Given the description of an element on the screen output the (x, y) to click on. 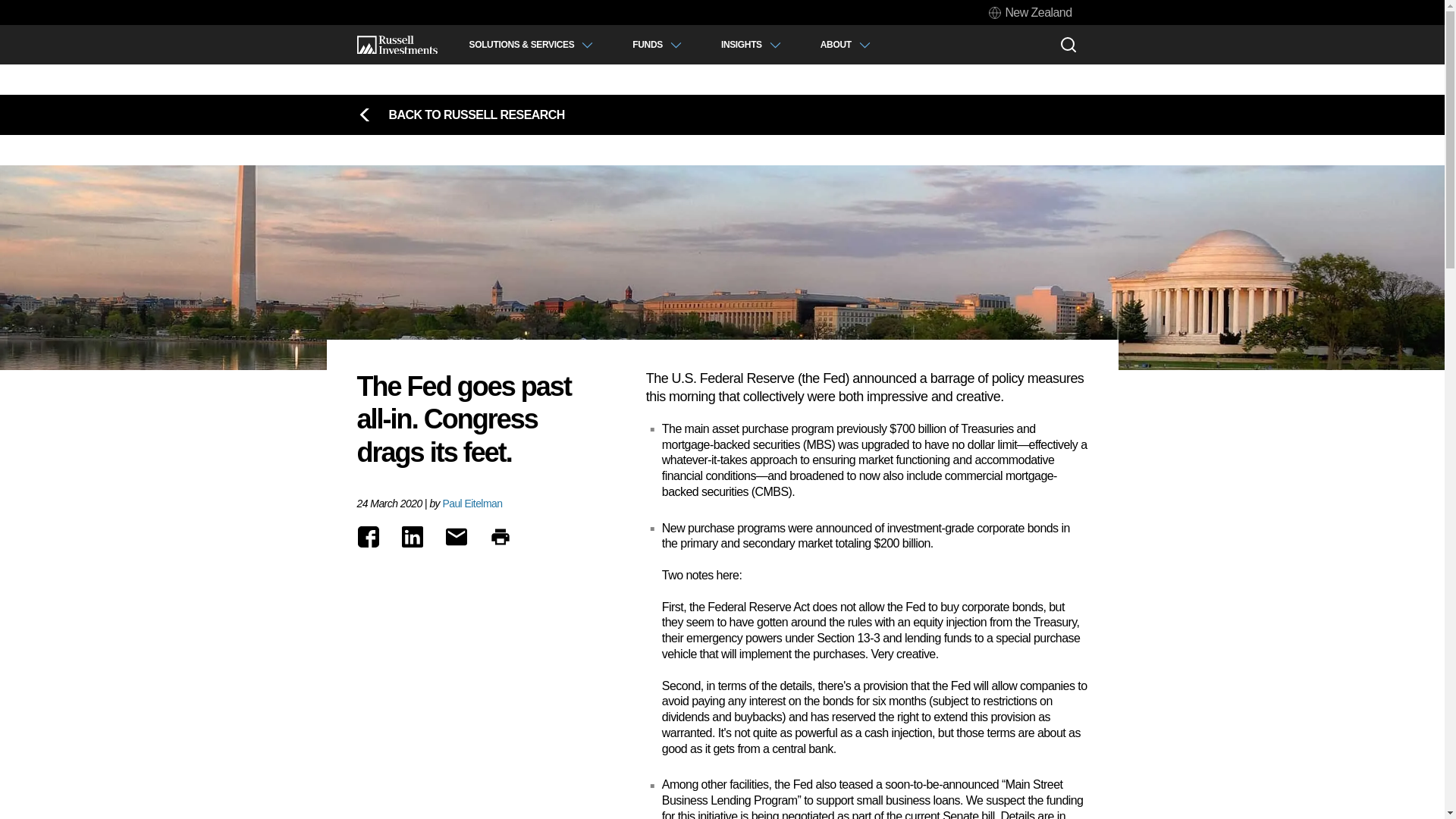
New Zealand (1029, 12)
FUNDS (657, 44)
